Given the description of an element on the screen output the (x, y) to click on. 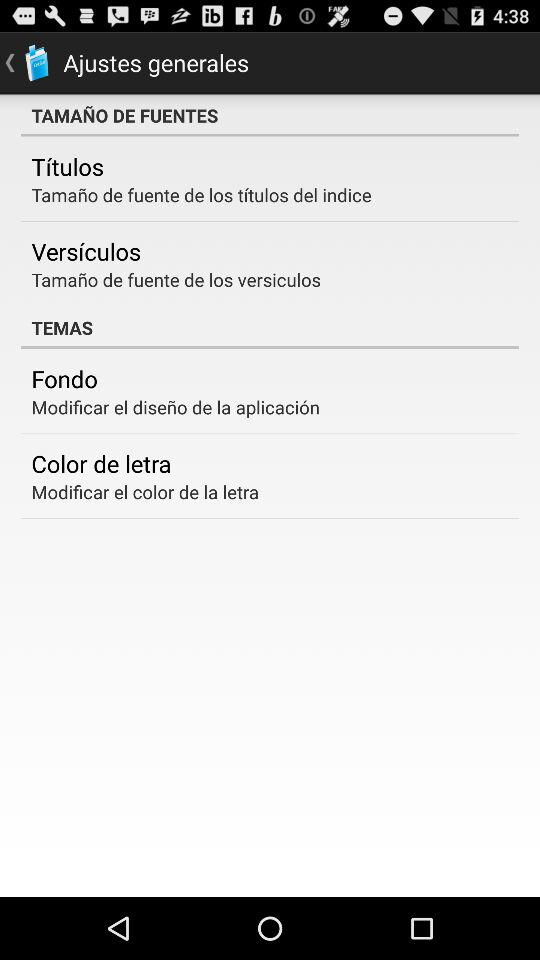
open the icon at the center (270, 327)
